Given the description of an element on the screen output the (x, y) to click on. 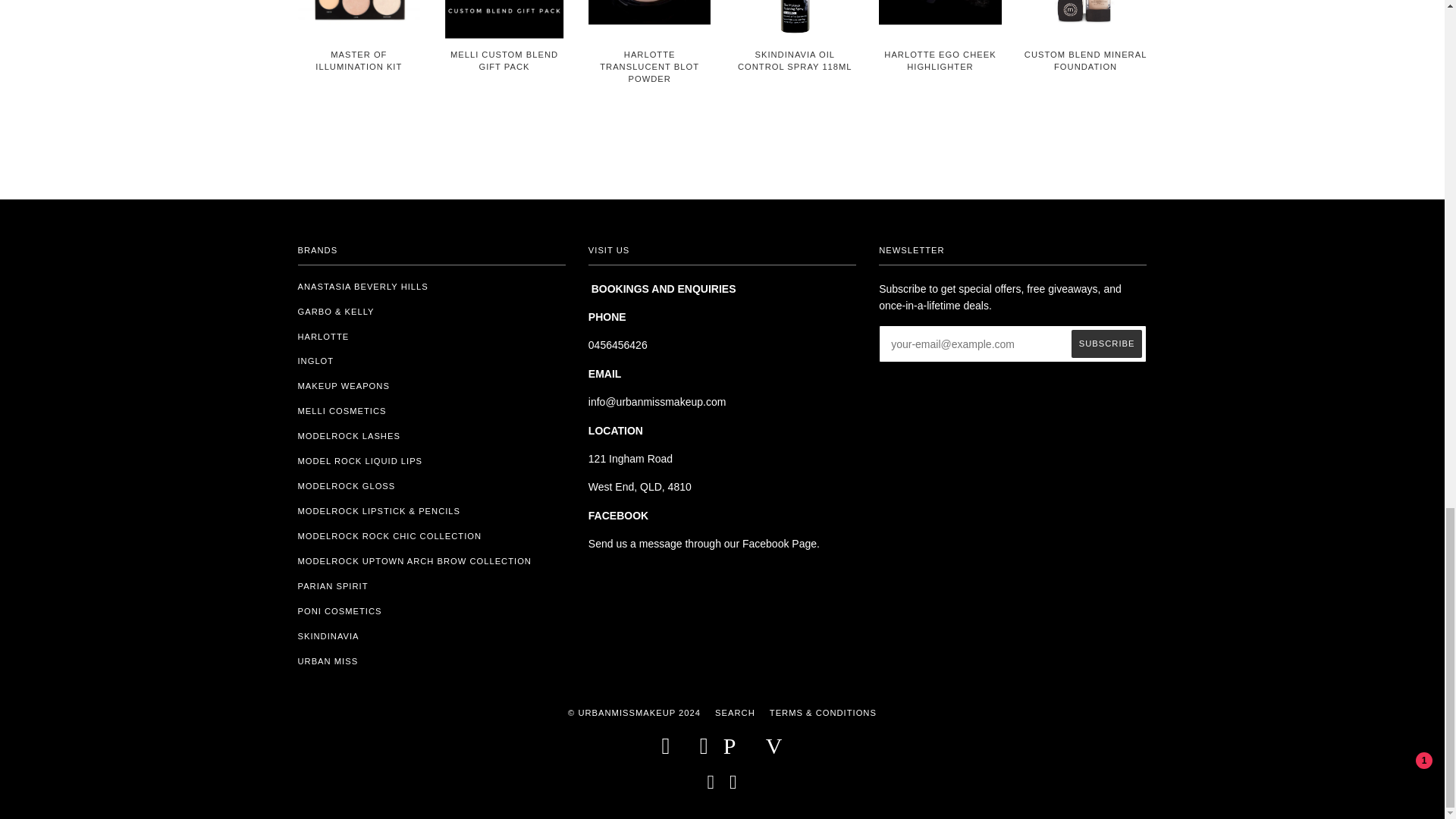
urbanmissmakeup on Facebook (710, 785)
urbanmissmakeup on Instagram (733, 785)
Subscribe (1106, 343)
